Given the description of an element on the screen output the (x, y) to click on. 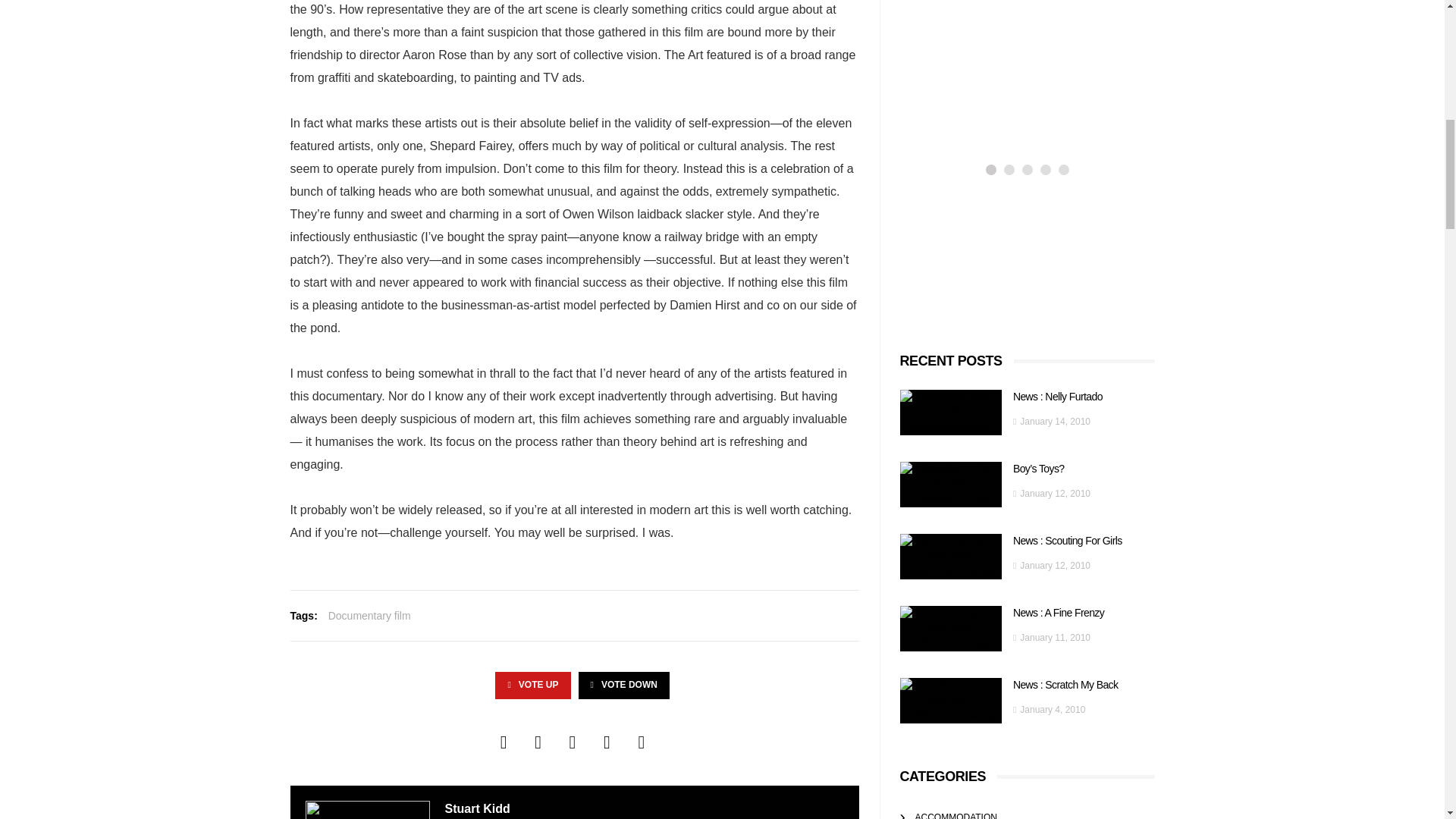
VOTE DOWN (623, 684)
VOTE UP (532, 684)
Stuart Kidd (476, 808)
Documentary film (369, 615)
